Given the description of an element on the screen output the (x, y) to click on. 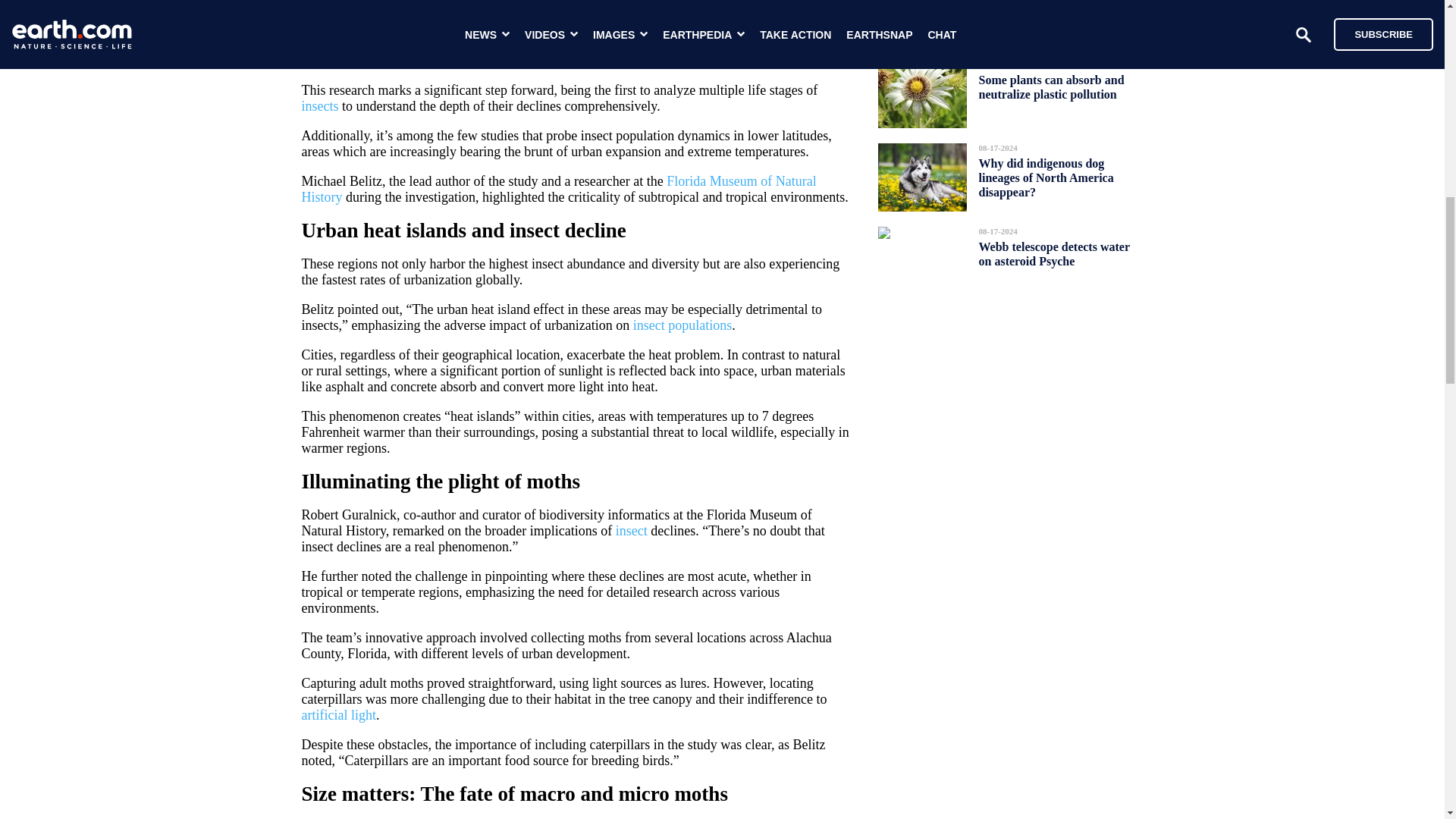
insects (320, 105)
insect populations (682, 324)
insect (631, 530)
artificial light (338, 714)
Florida Museum of Natural History (558, 188)
